Given the description of an element on the screen output the (x, y) to click on. 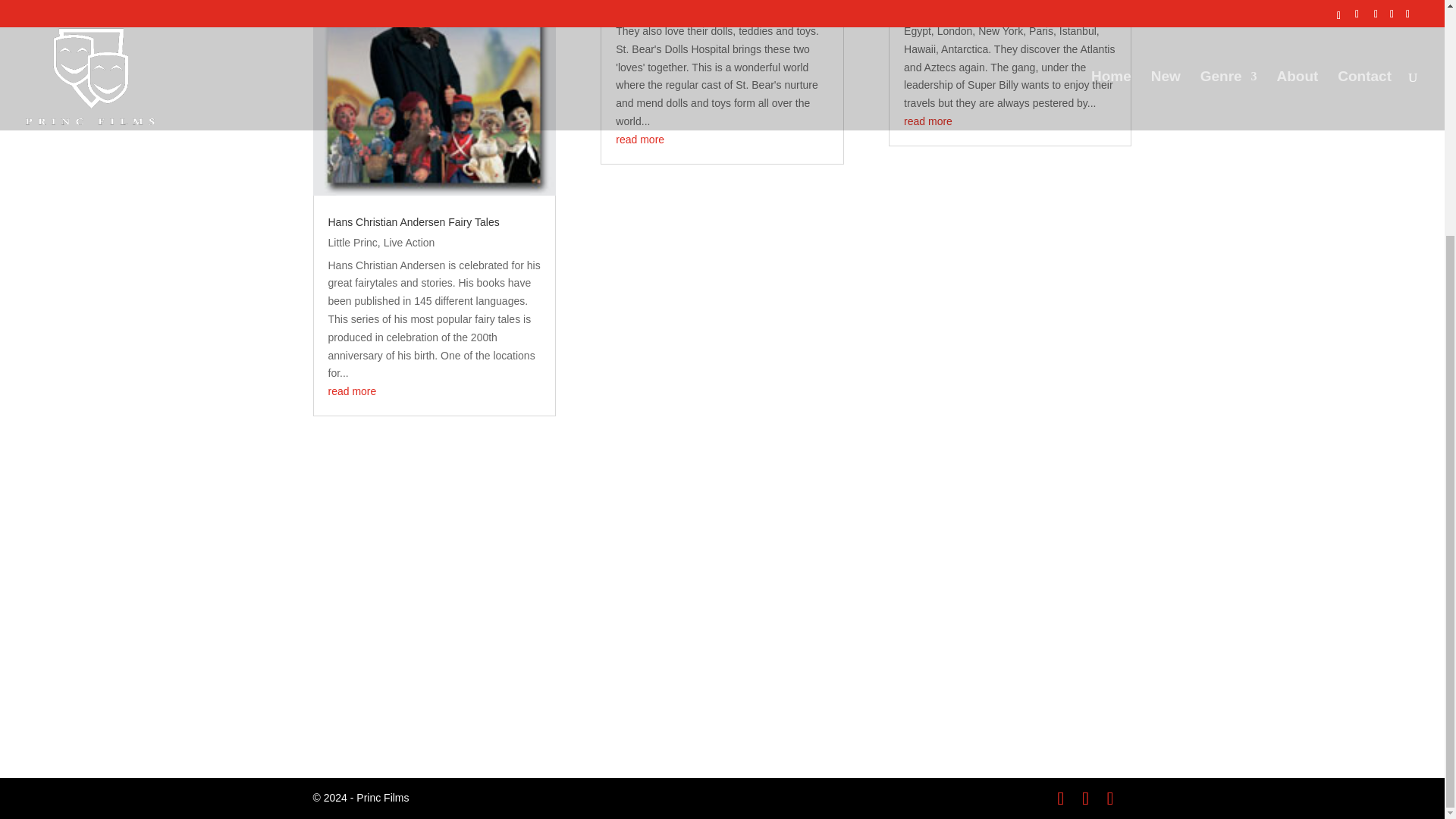
Little Princ (352, 242)
read more (351, 390)
Hans Christian Andersen Fairy Tales (413, 222)
Live Action (409, 242)
